Given the description of an element on the screen output the (x, y) to click on. 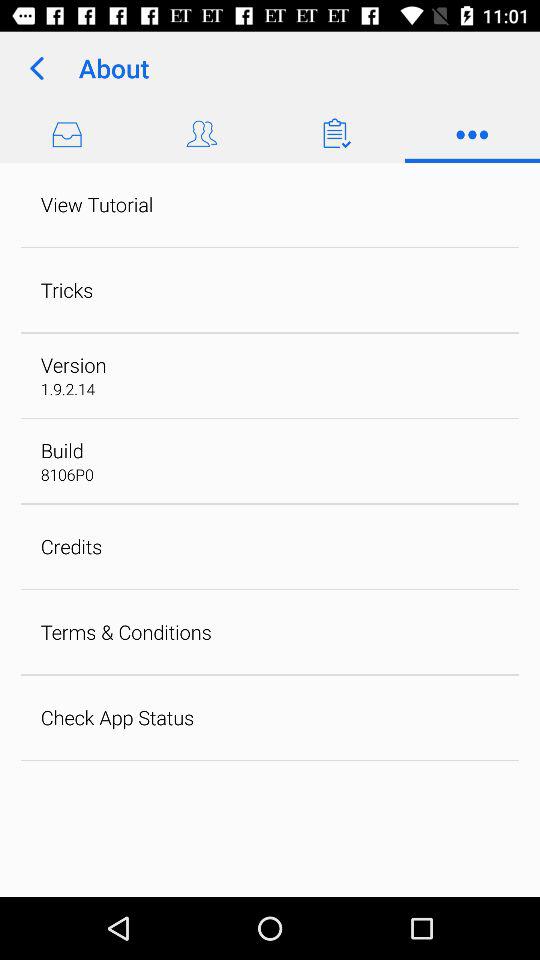
swipe until 1 9 2 app (67, 388)
